Given the description of an element on the screen output the (x, y) to click on. 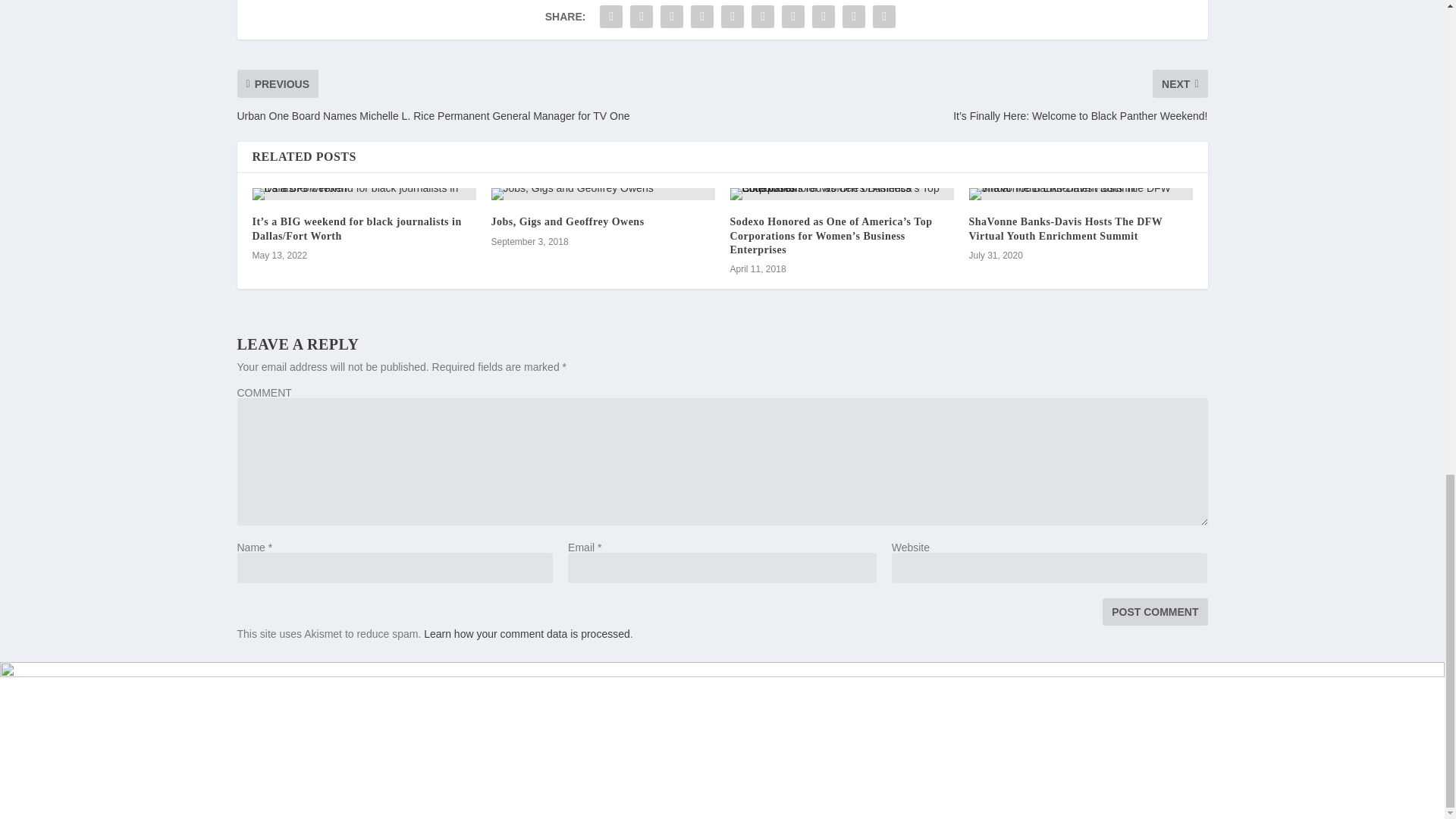
Post Comment (1154, 611)
